Given the description of an element on the screen output the (x, y) to click on. 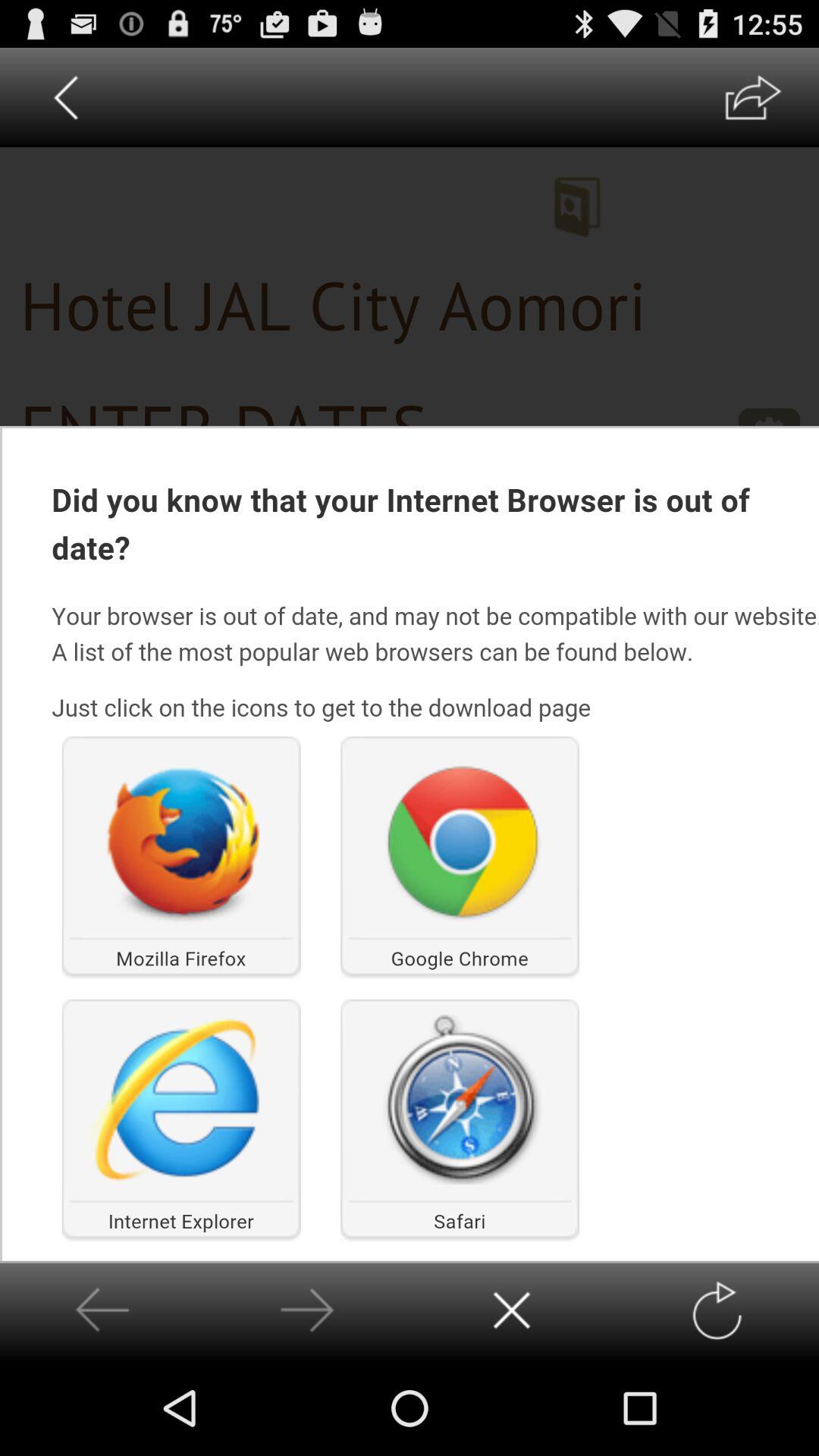
refresh (716, 1310)
